Given the description of an element on the screen output the (x, y) to click on. 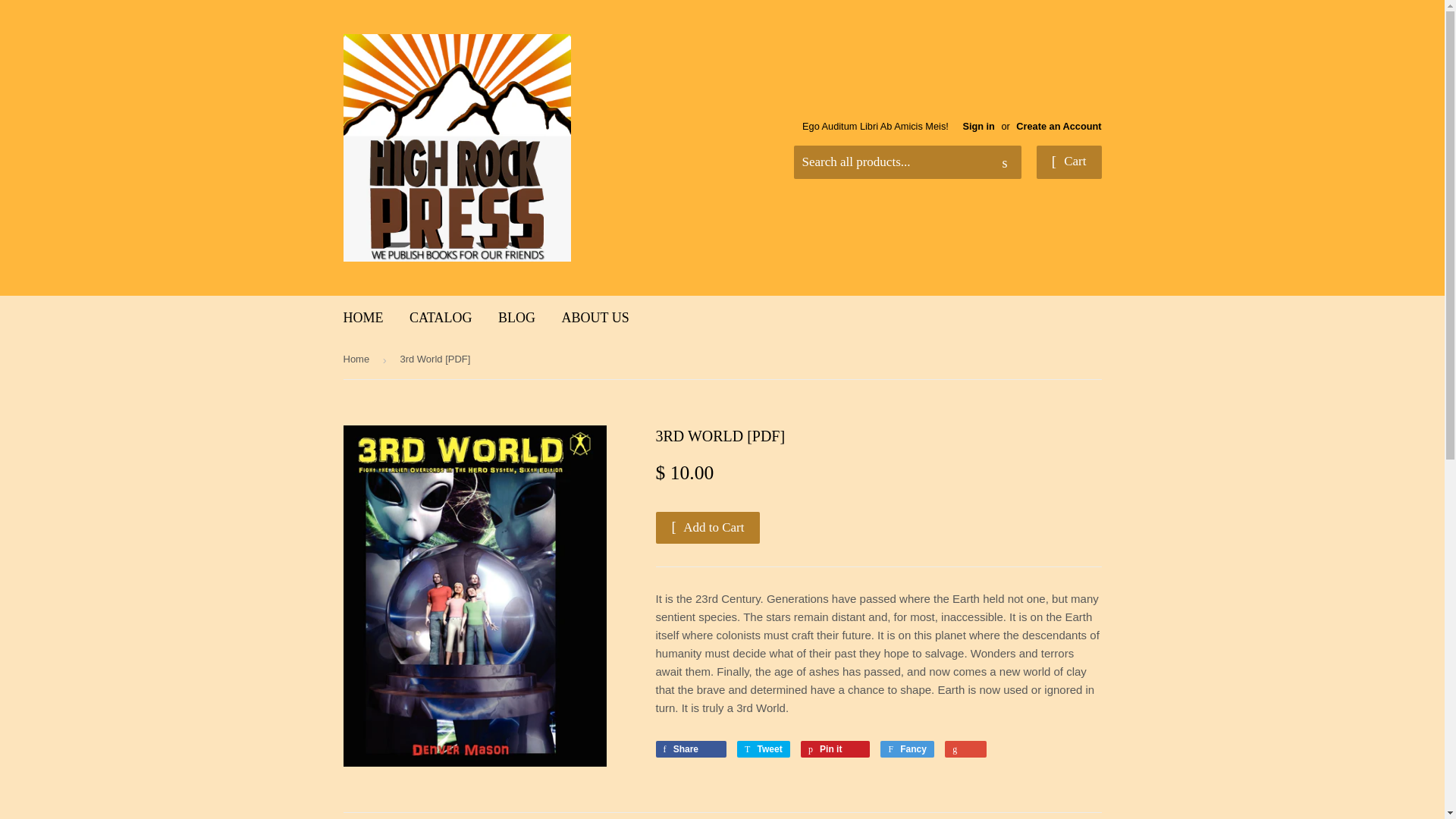
Create an Account (1058, 125)
BLOG (516, 317)
Share (690, 749)
Sign in (978, 125)
Pin it (834, 749)
ABOUT US (595, 317)
Add to Cart (707, 527)
Cart (1069, 162)
Search (1004, 163)
HOME (362, 317)
